Given the description of an element on the screen output the (x, y) to click on. 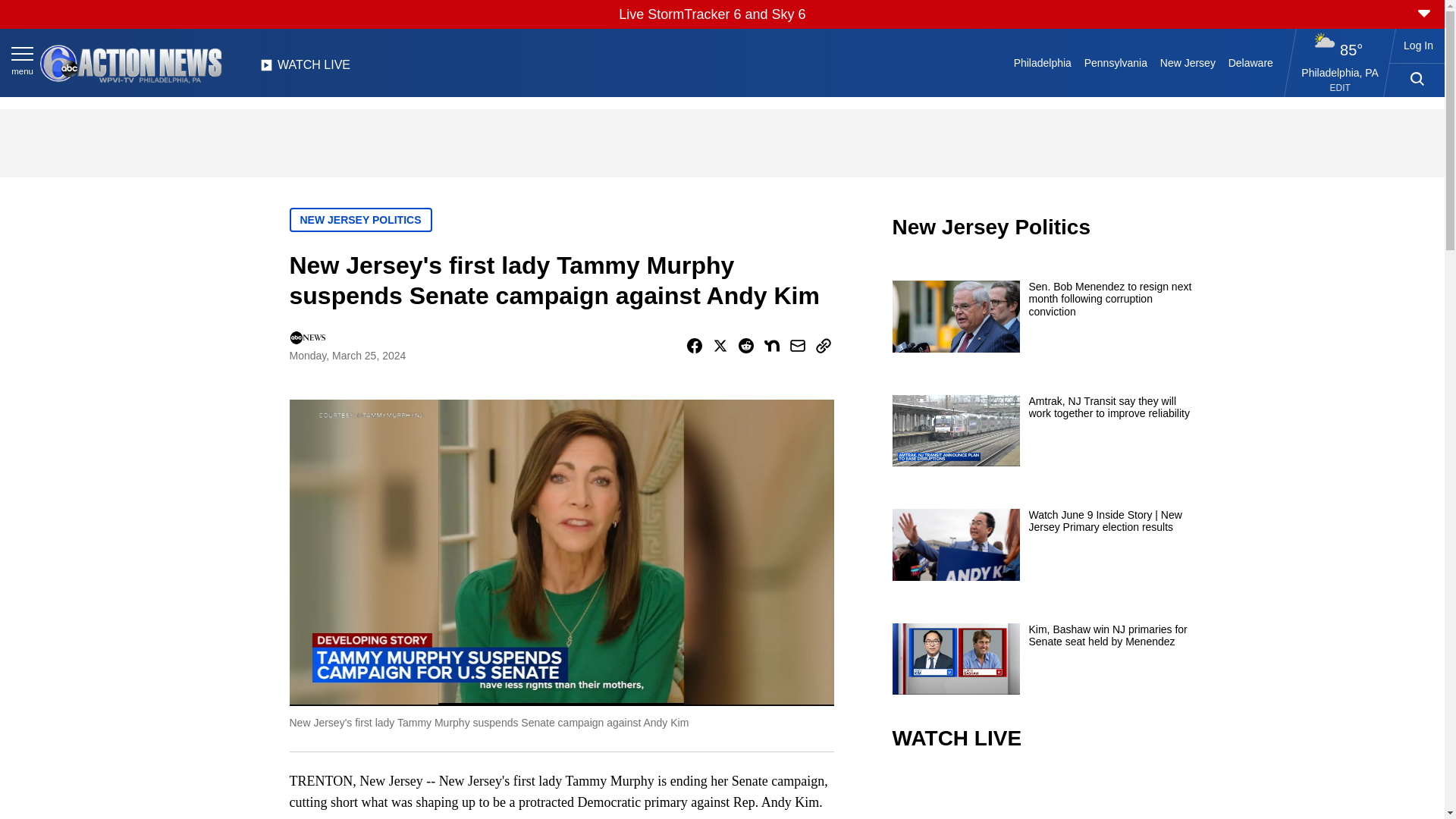
Philadelphia (1042, 62)
EDIT (1340, 87)
Pennsylvania (1115, 62)
New Jersey (1187, 62)
Philadelphia, PA (1339, 72)
WATCH LIVE (305, 69)
Delaware (1250, 62)
video.title (1043, 796)
